Given the description of an element on the screen output the (x, y) to click on. 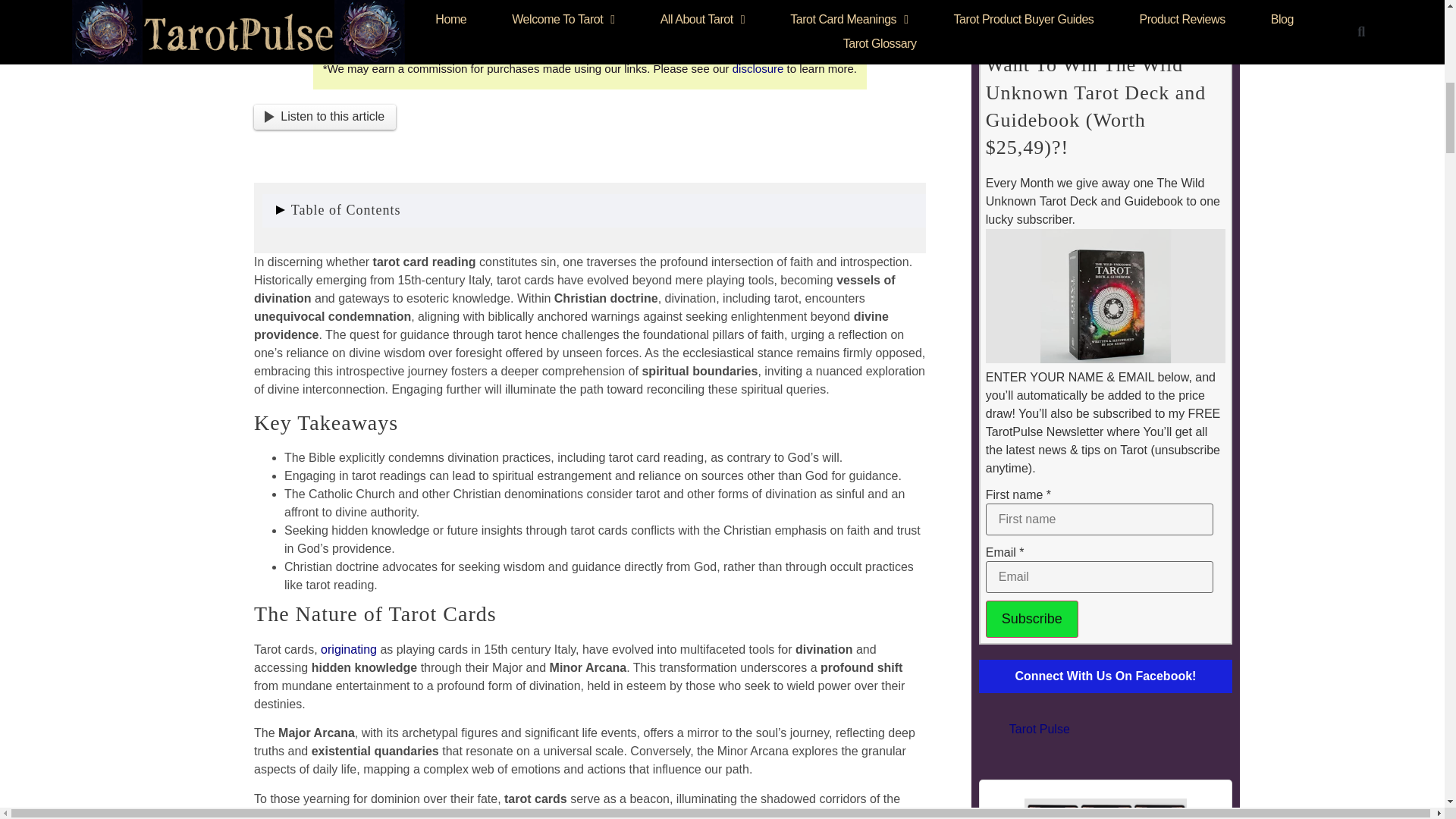
Subscribe (1031, 619)
